Given the description of an element on the screen output the (x, y) to click on. 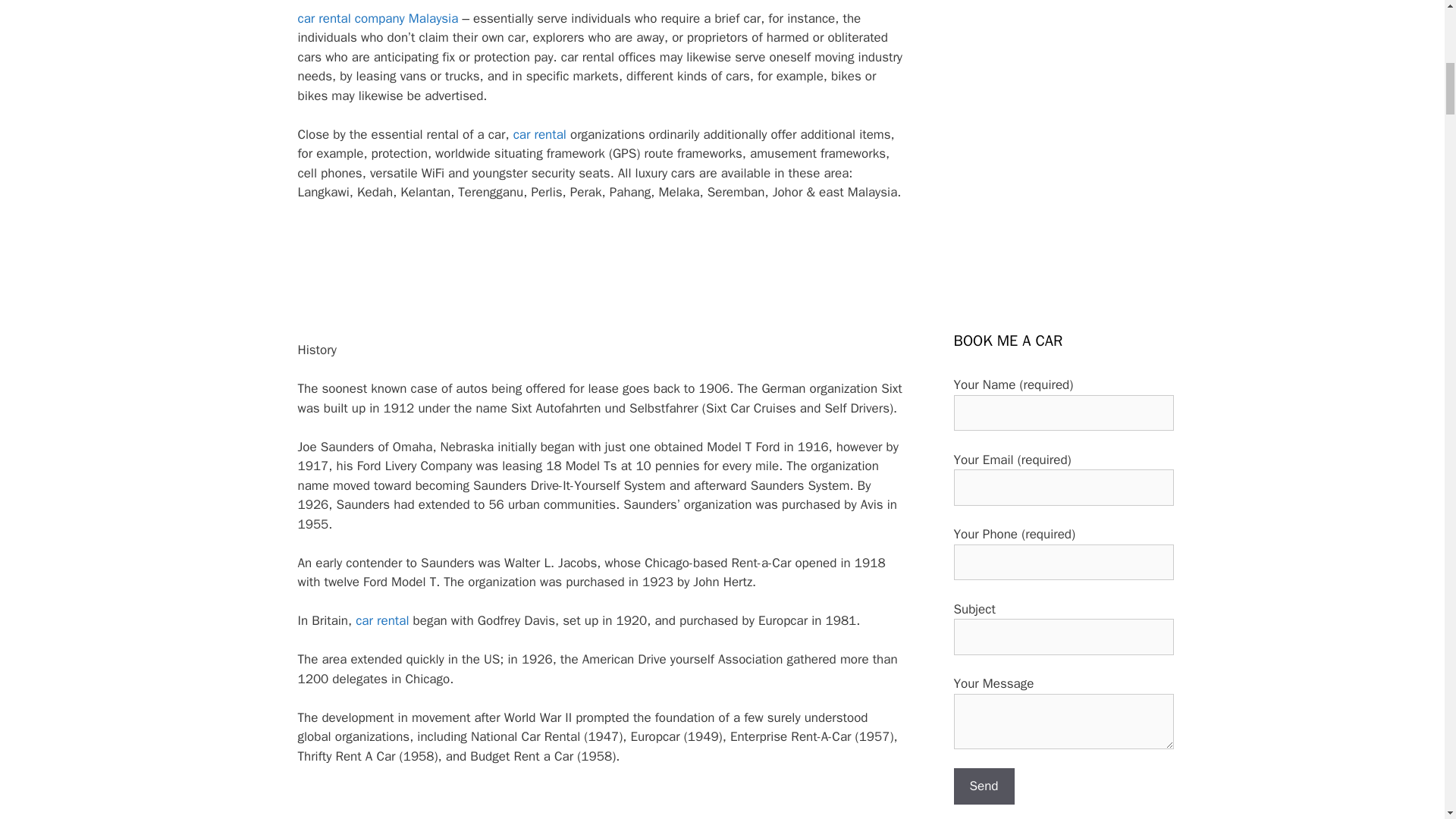
car rental company Malaysia (377, 18)
Send (983, 786)
car rental (382, 620)
car rental (539, 134)
Scroll back to top (1406, 720)
